Given the description of an element on the screen output the (x, y) to click on. 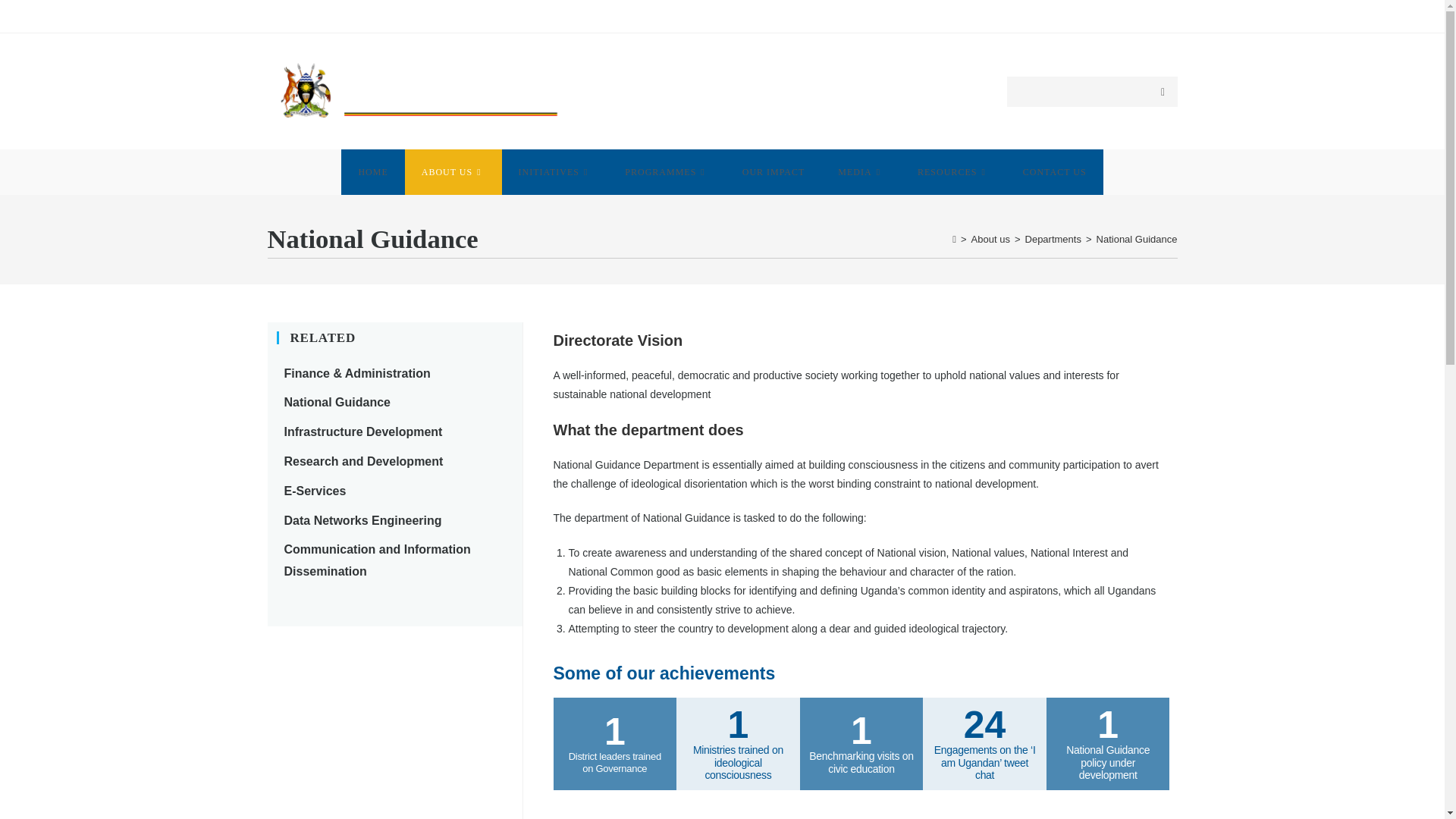
UBC (1017, 15)
INITIATIVES (555, 171)
HOME (372, 171)
UCC (1050, 15)
PROGRAMMES (666, 171)
NITA-U (1089, 15)
ABOUT US (453, 171)
STAFF-MAIL (1147, 15)
